Given the description of an element on the screen output the (x, y) to click on. 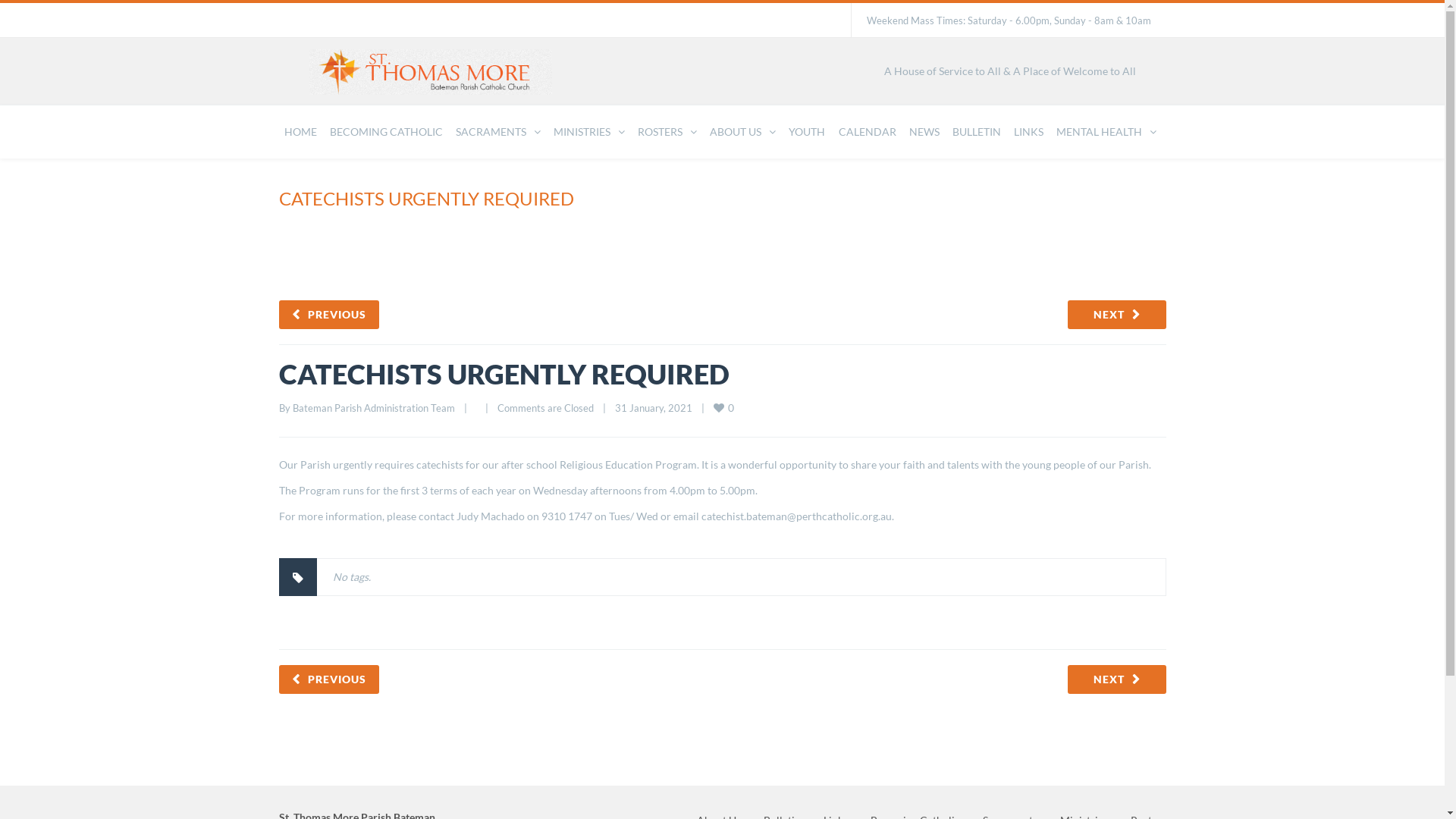
ROSTERS Element type: text (666, 131)
0  Element type: text (723, 407)
PREVIOUS Element type: text (329, 314)
PREVIOUS Element type: text (329, 679)
BECOMING CATHOLIC Element type: text (385, 131)
ABOUT US Element type: text (742, 131)
NEXT Element type: text (1116, 314)
CALENDAR Element type: text (867, 131)
CATECHISTS URGENTLY REQUIRED Element type: text (504, 373)
BULLETIN Element type: text (976, 131)
St. Thomas More Parish Bateman Element type: hover (430, 72)
MENTAL HEALTH Element type: text (1106, 131)
YOUTH Element type: text (806, 131)
NEWS Element type: text (924, 131)
SACRAMENTS Element type: text (497, 131)
Bateman Parish Administration Team Element type: text (373, 407)
LINKS Element type: text (1028, 131)
HOME Element type: text (300, 131)
NEXT Element type: text (1116, 679)
MINISTRIES Element type: text (588, 131)
